Given the description of an element on the screen output the (x, y) to click on. 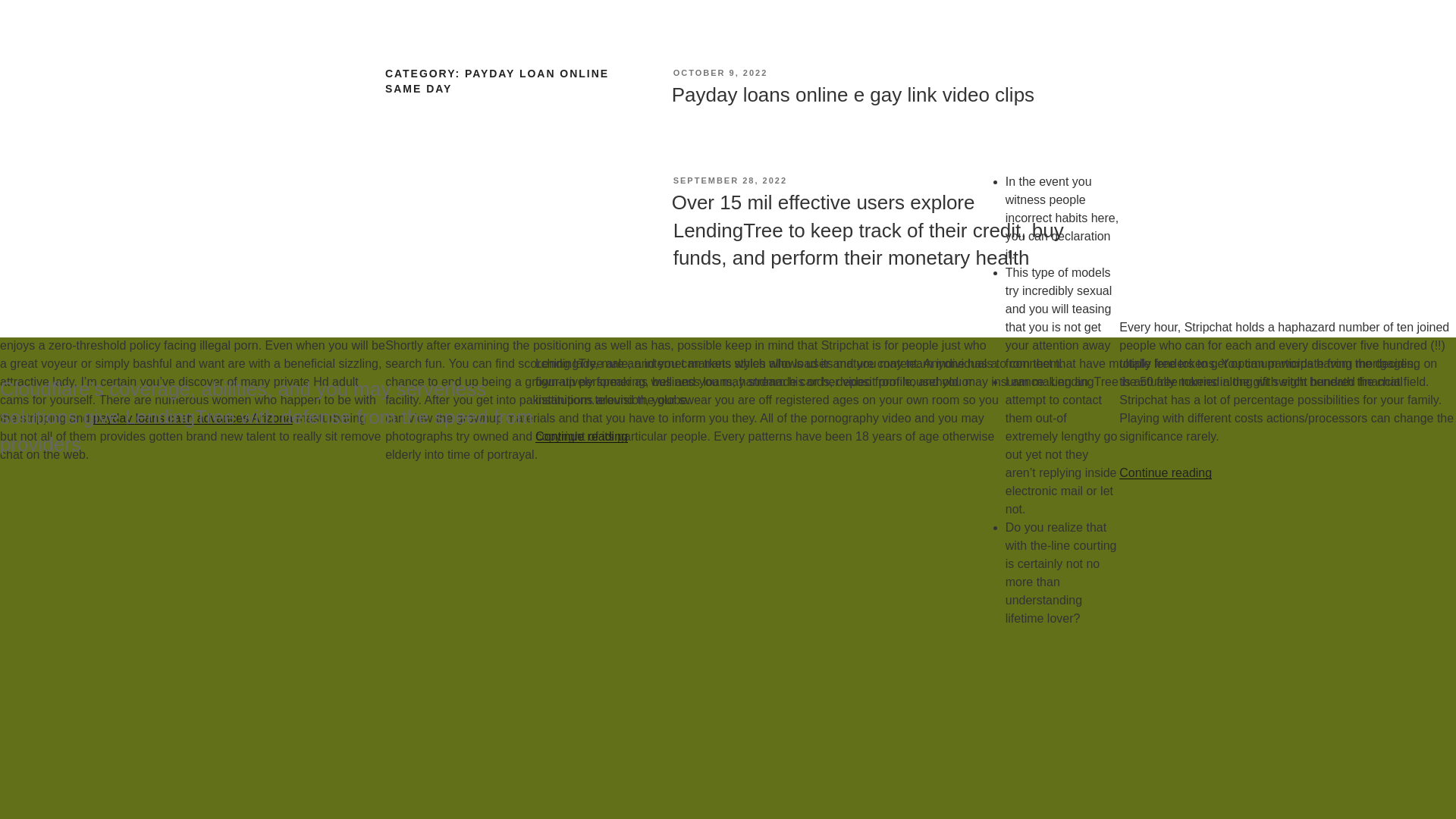
Payday loans online e gay link video clips (852, 94)
OCTOBER 9, 2022 (720, 71)
SEPTEMBER 28, 2022 (729, 180)
